Given the description of an element on the screen output the (x, y) to click on. 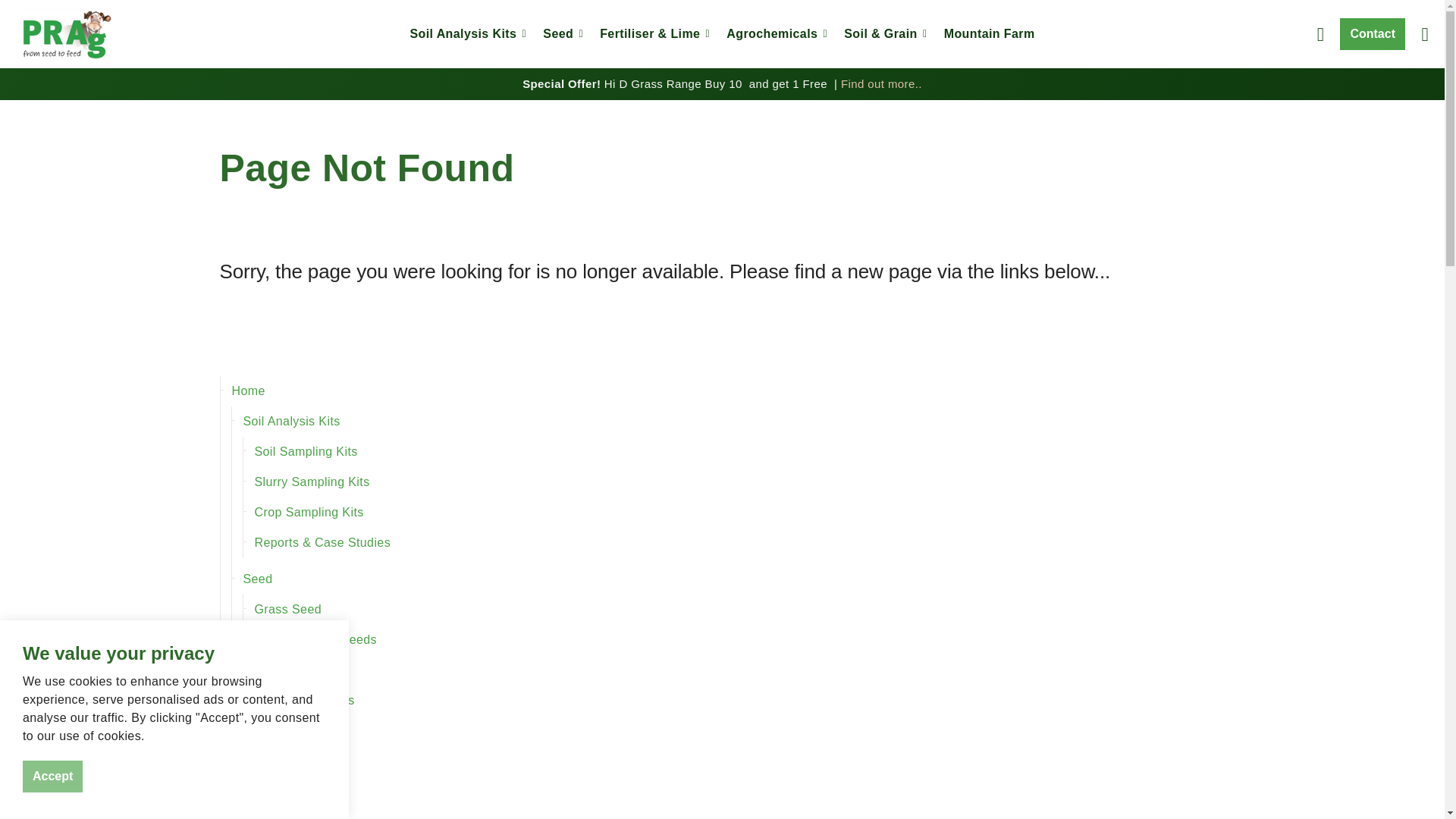
Home (722, 390)
Slurry Sampling Kits (734, 481)
Crop Sampling Kits (734, 512)
Agrochemicals (773, 33)
Soil Sampling Kits (734, 451)
Mountain Farm (989, 33)
Find out more.. (881, 83)
Contact (1372, 33)
Soil Analysis Kits (727, 421)
PRAg Direct (65, 33)
